Given the description of an element on the screen output the (x, y) to click on. 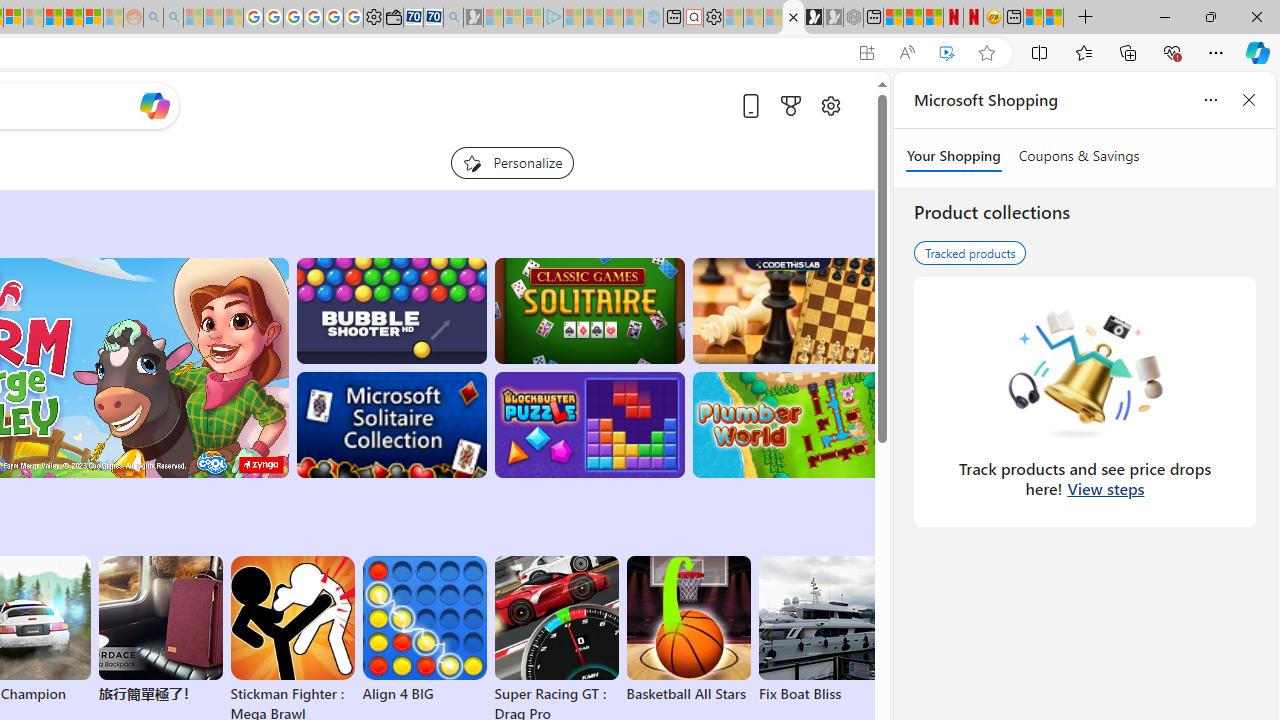
Align 4 BIG (424, 629)
Bubble Shooter HD (390, 310)
